Given the description of an element on the screen output the (x, y) to click on. 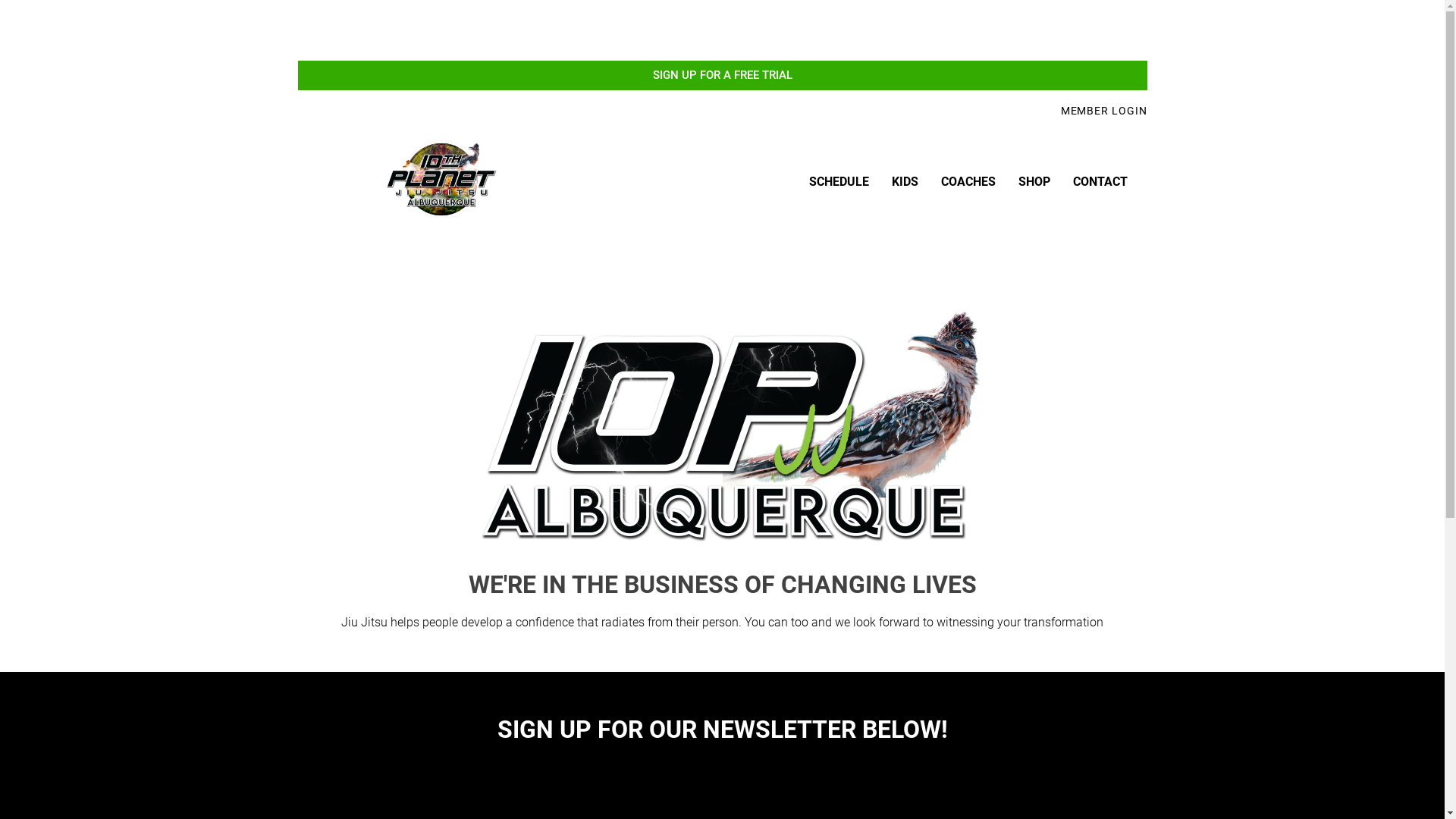
COACHES Element type: text (968, 181)
SIGN UP FOR A FREE TRIAL Element type: text (721, 75)
SCHEDULE Element type: text (838, 181)
CONTACT Element type: text (1100, 181)
MEMBER LOGIN Element type: text (1103, 110)
KIDS Element type: text (904, 181)
SHOP Element type: text (1034, 181)
